Given the description of an element on the screen output the (x, y) to click on. 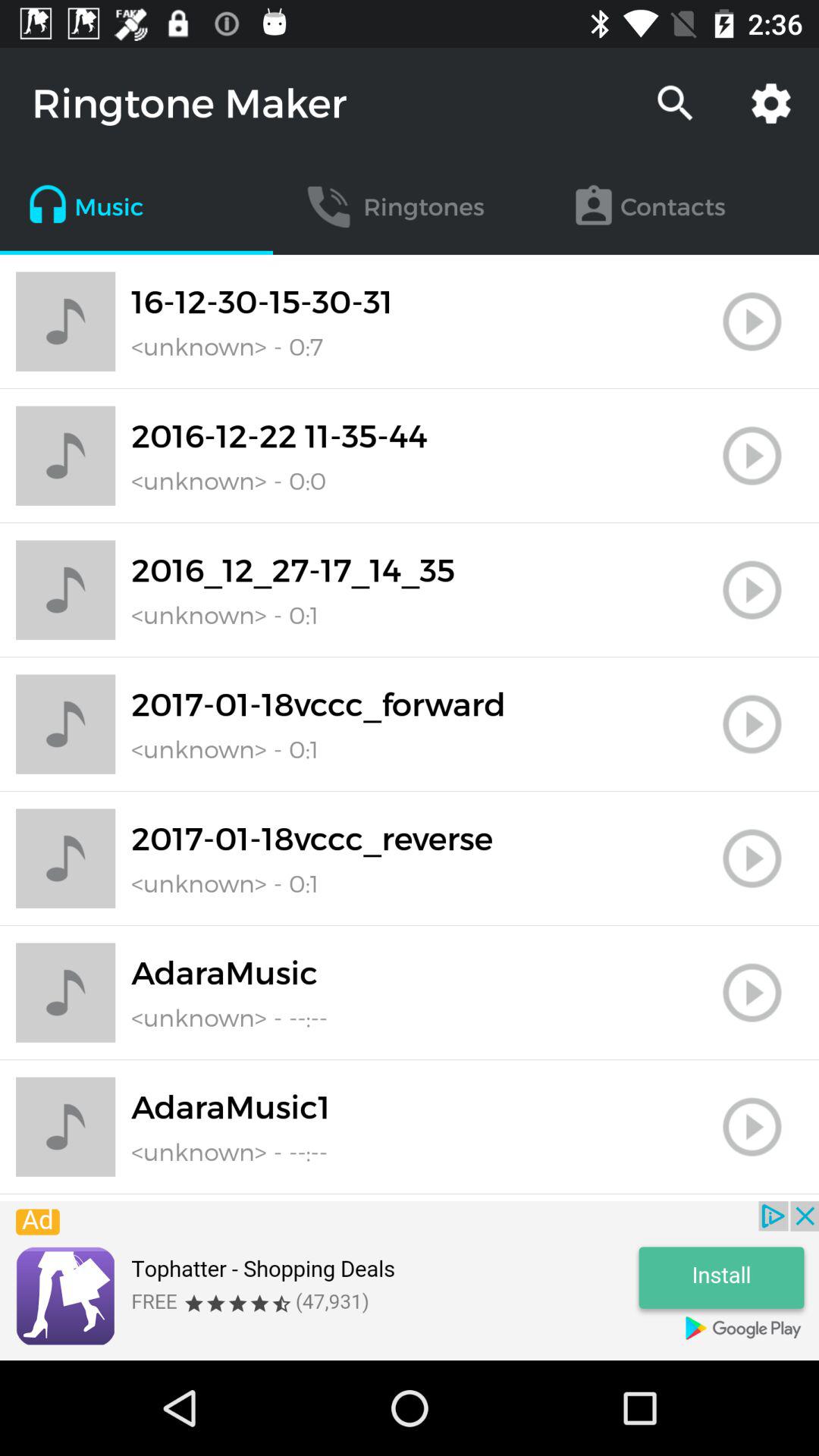
play (752, 1126)
